Given the description of an element on the screen output the (x, y) to click on. 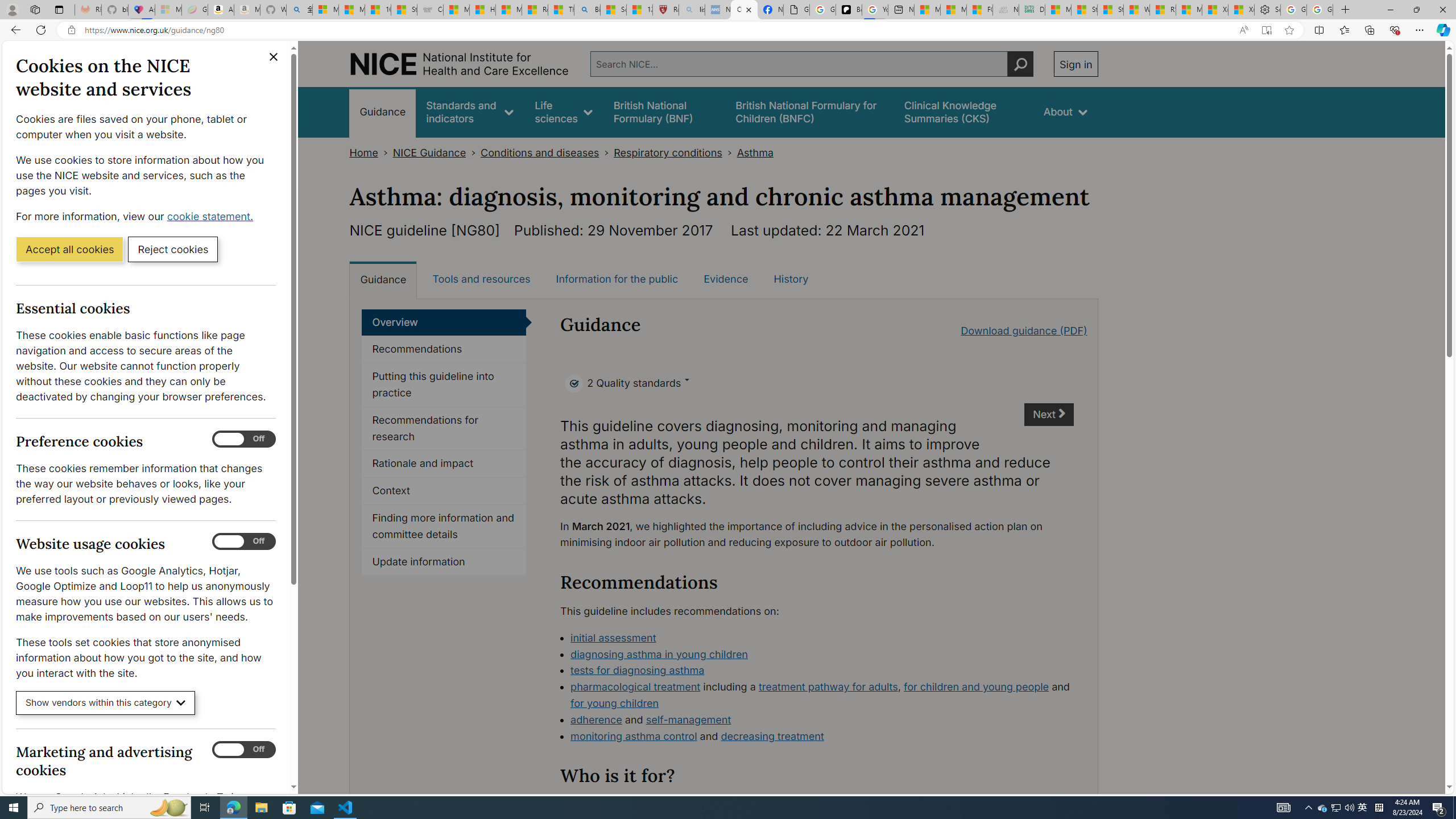
Marketing and advertising cookies (243, 749)
Preference cookies (243, 438)
R******* | Trusted Community Engagement and Contributions (1162, 9)
Close cookie banner (273, 56)
Recommendations (443, 349)
NICE Guidance (429, 152)
Be Smart | creating Science videos | Patreon (848, 9)
